Given the description of an element on the screen output the (x, y) to click on. 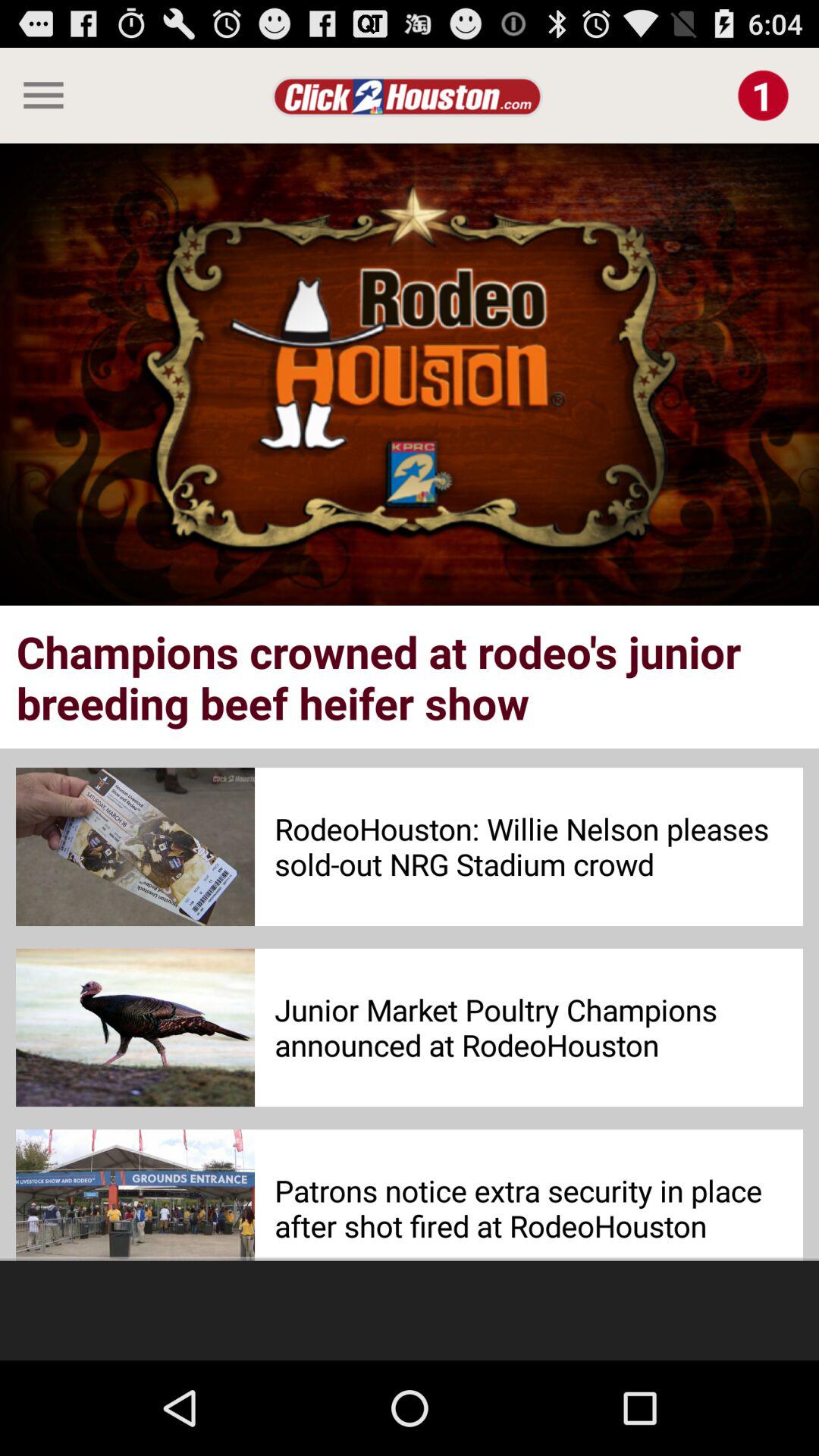
select the number on the top right corner (762, 95)
